Given the description of an element on the screen output the (x, y) to click on. 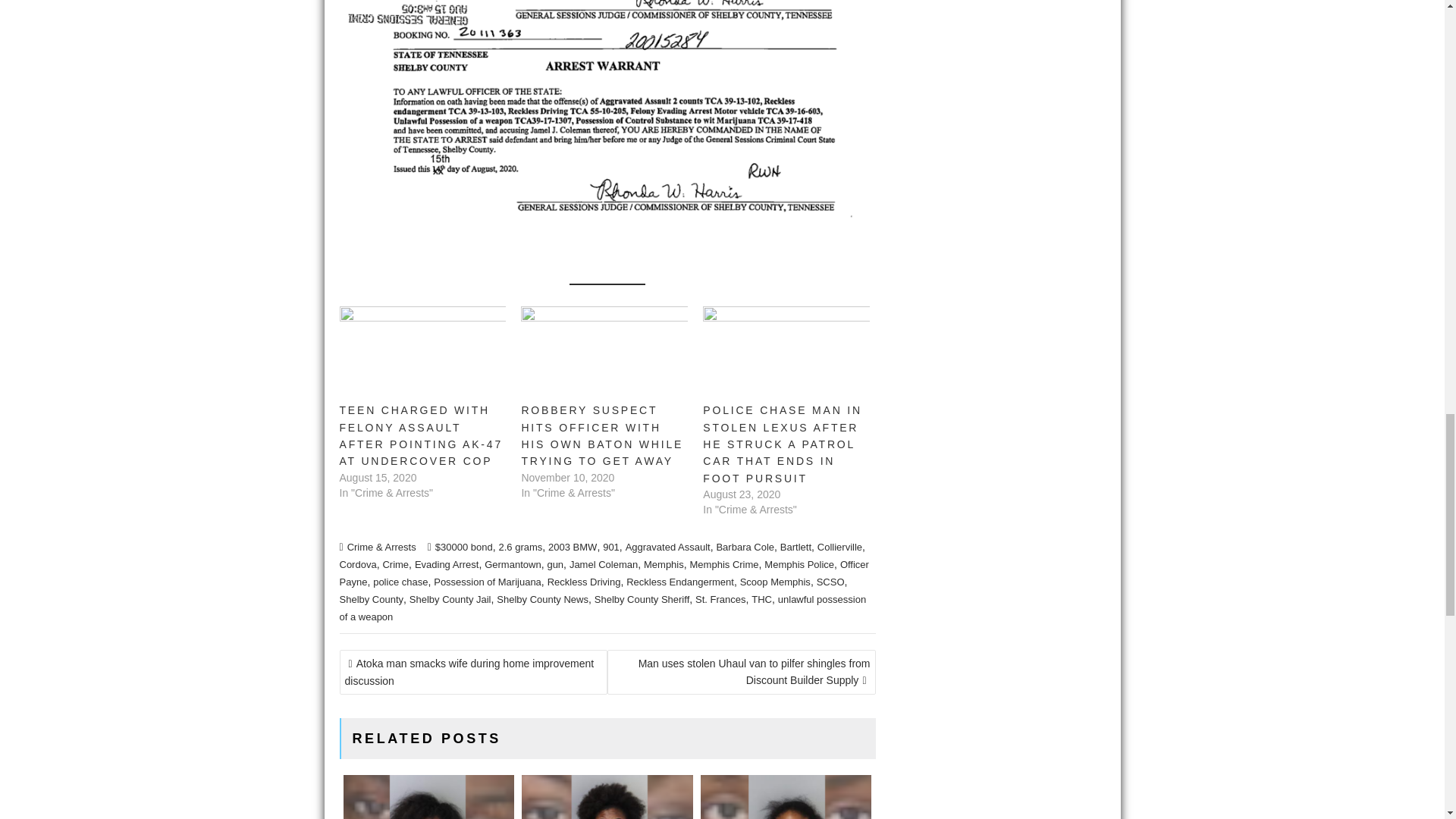
901 (611, 546)
Reckless Driving (584, 582)
2.6 grams (519, 546)
police chase (400, 582)
Aggravated Assault (668, 546)
Crime (395, 564)
Barbara Cole (745, 546)
SCSO (830, 582)
2003 BMW (572, 546)
Officer Payne (604, 573)
gun (555, 564)
